Given the description of an element on the screen output the (x, y) to click on. 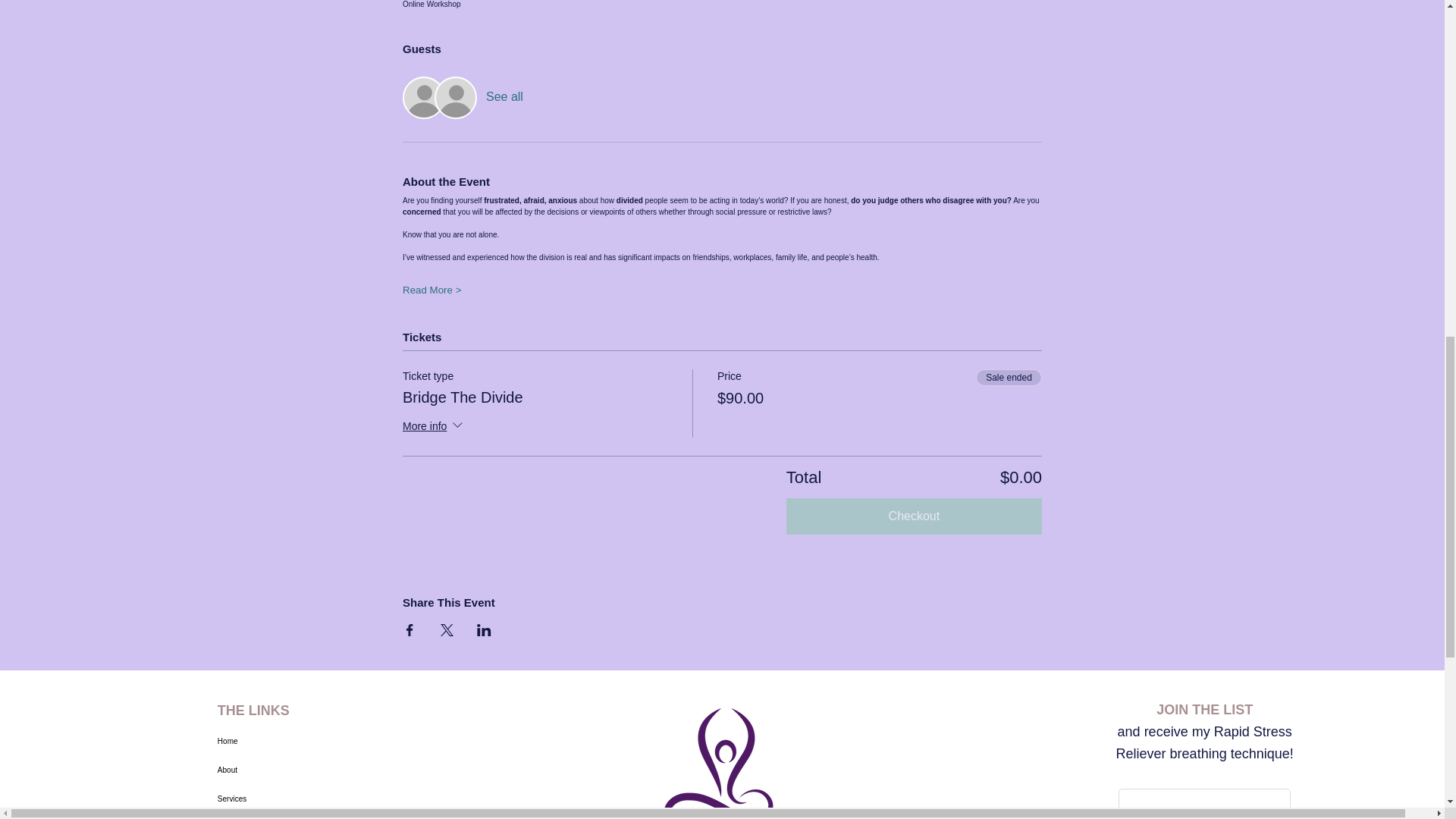
Events (270, 816)
Services (270, 799)
Home (270, 741)
About (270, 769)
Checkout (914, 515)
See all (504, 96)
Rita-icon.png (720, 758)
More info (434, 426)
